Given the description of an element on the screen output the (x, y) to click on. 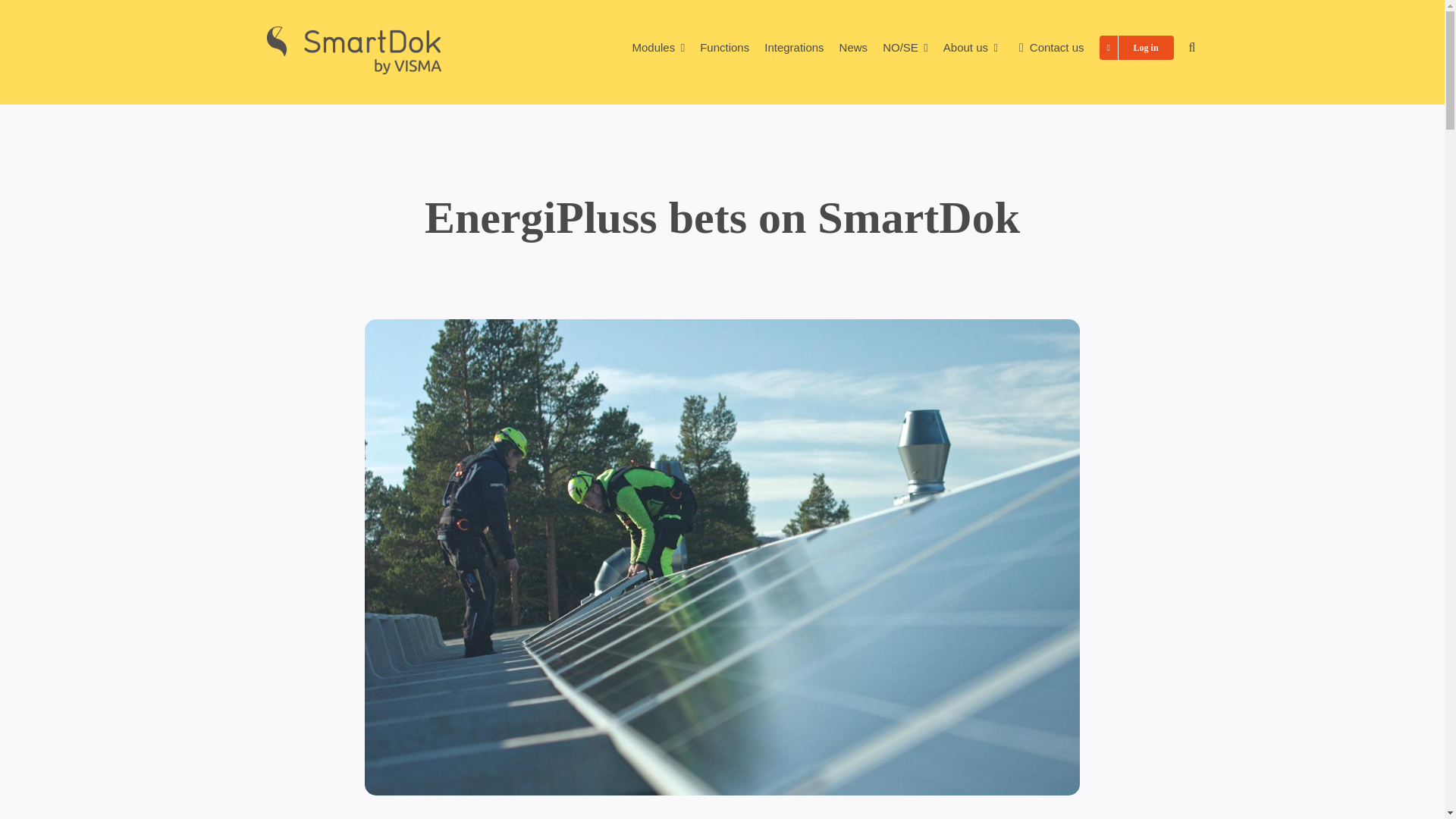
Log in (1136, 47)
About us (970, 47)
Contact us (1048, 47)
Modules (657, 47)
Functions (724, 47)
Integrations (794, 47)
